Given the description of an element on the screen output the (x, y) to click on. 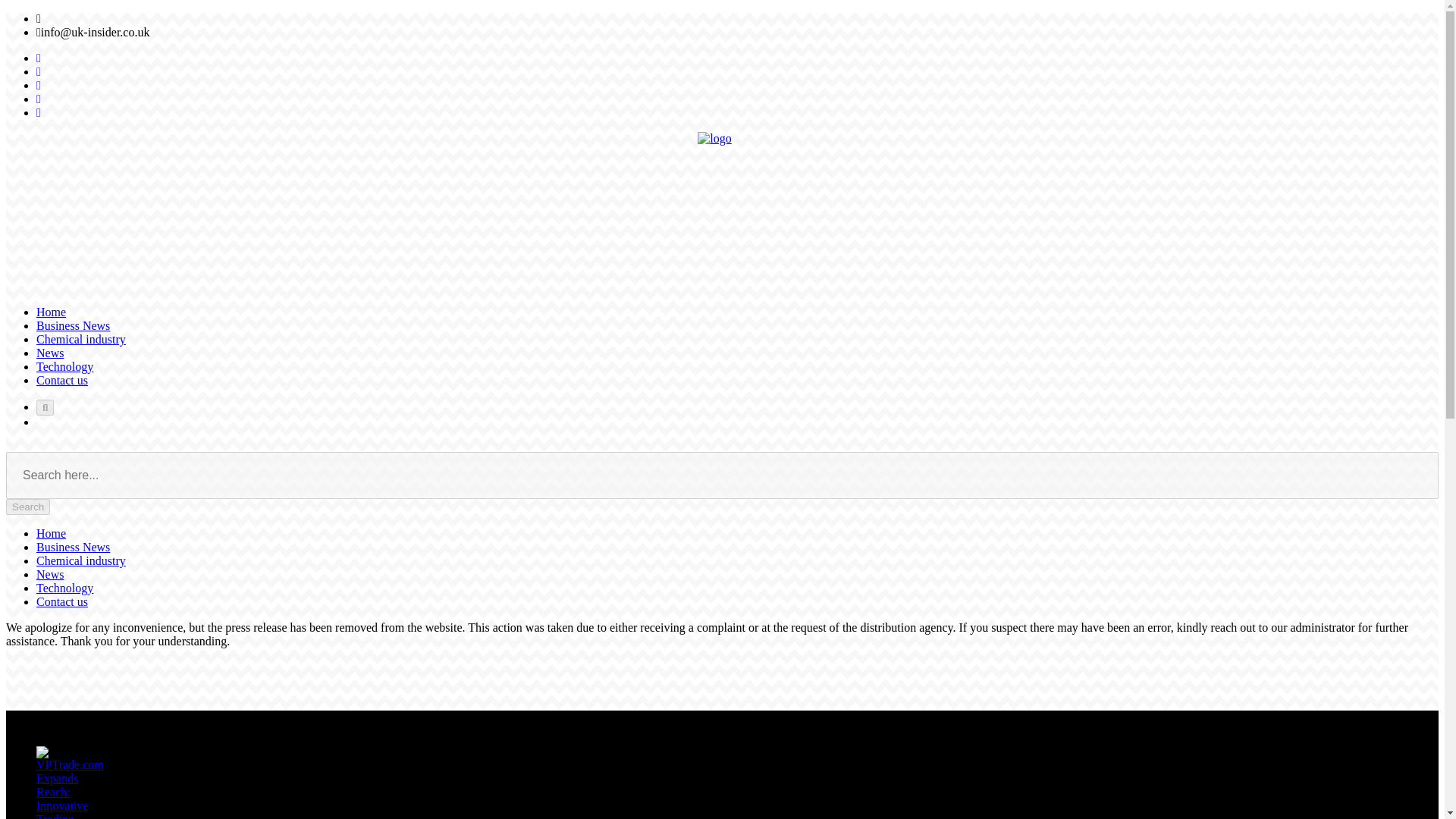
News (50, 352)
News (50, 574)
Technology (64, 366)
Home (50, 311)
Search (27, 506)
ticker tape TradingView widget (721, 677)
Chemical industry (80, 560)
Business News (73, 325)
Technology (64, 587)
Home (50, 533)
Contact us (61, 601)
Chemical industry (80, 338)
Business News (73, 546)
Contact us (61, 379)
